Given the description of an element on the screen output the (x, y) to click on. 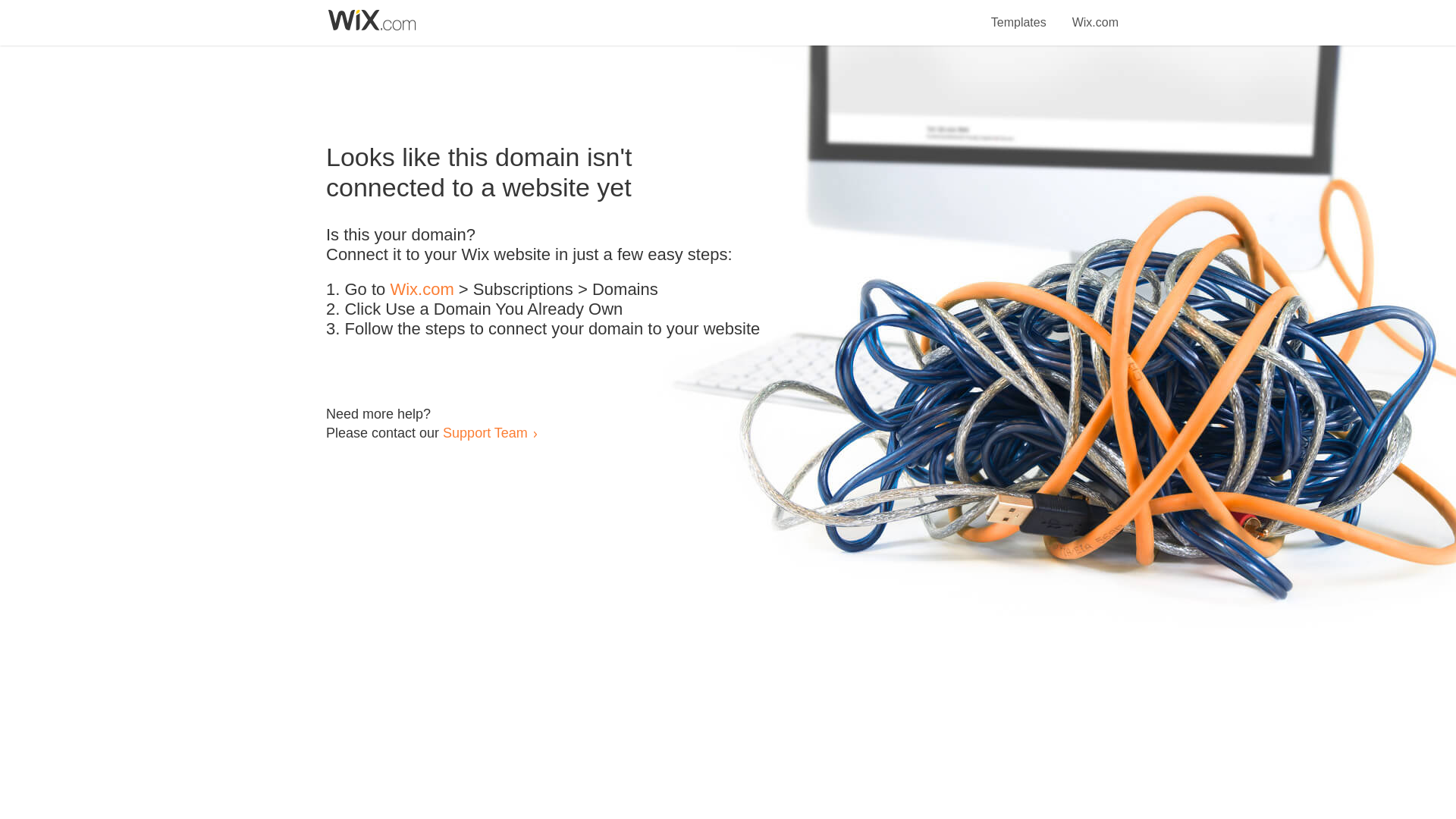
Wix.com (421, 289)
Wix.com (1095, 14)
Support Team (484, 432)
Templates (1018, 14)
